Given the description of an element on the screen output the (x, y) to click on. 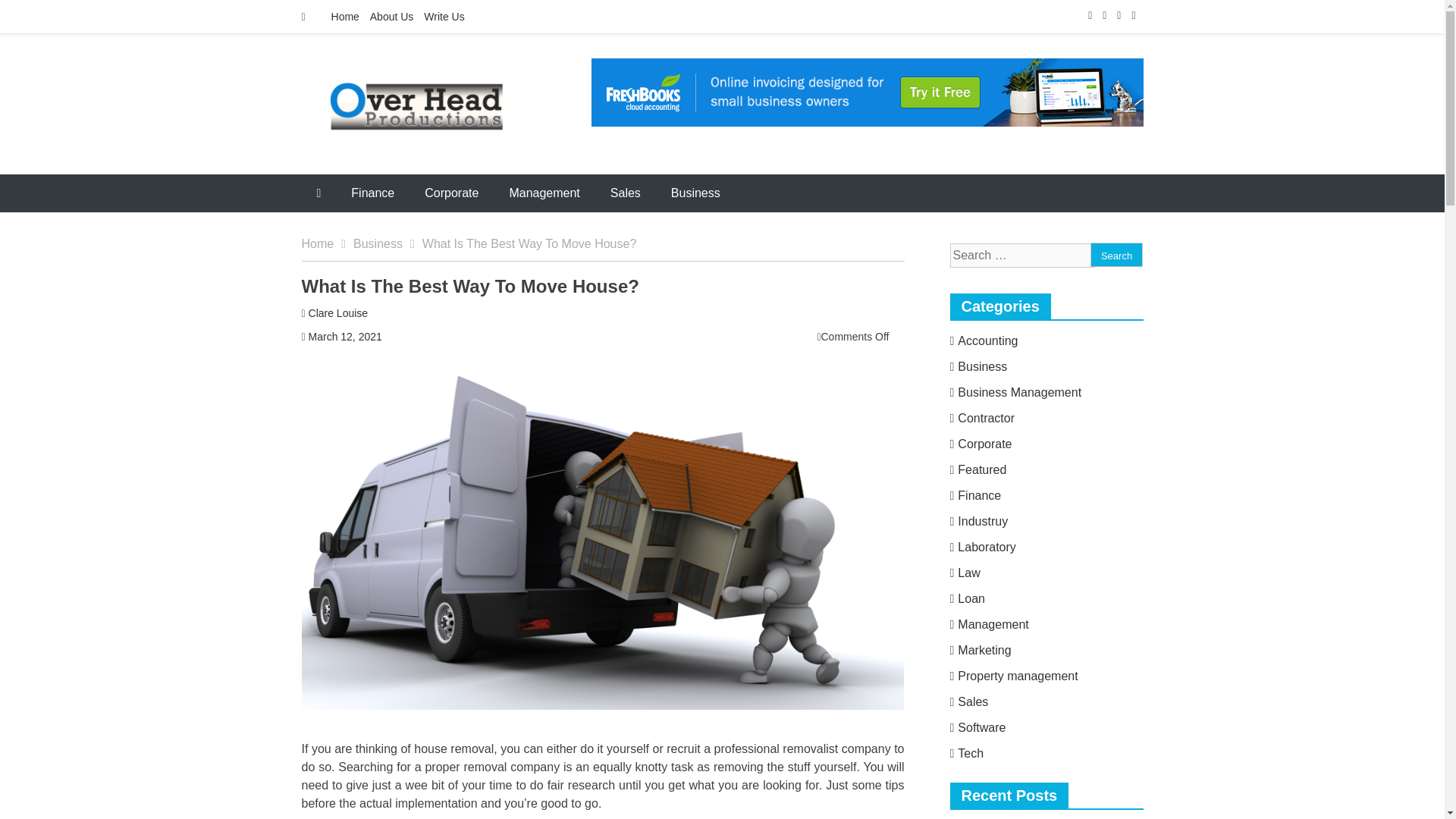
Search (1116, 254)
Finance (372, 193)
Clare Louise (338, 313)
Home (327, 243)
Business (695, 193)
Write Us (443, 16)
Business (978, 366)
Business (387, 243)
Management (543, 193)
Search (1116, 254)
